Given the description of an element on the screen output the (x, y) to click on. 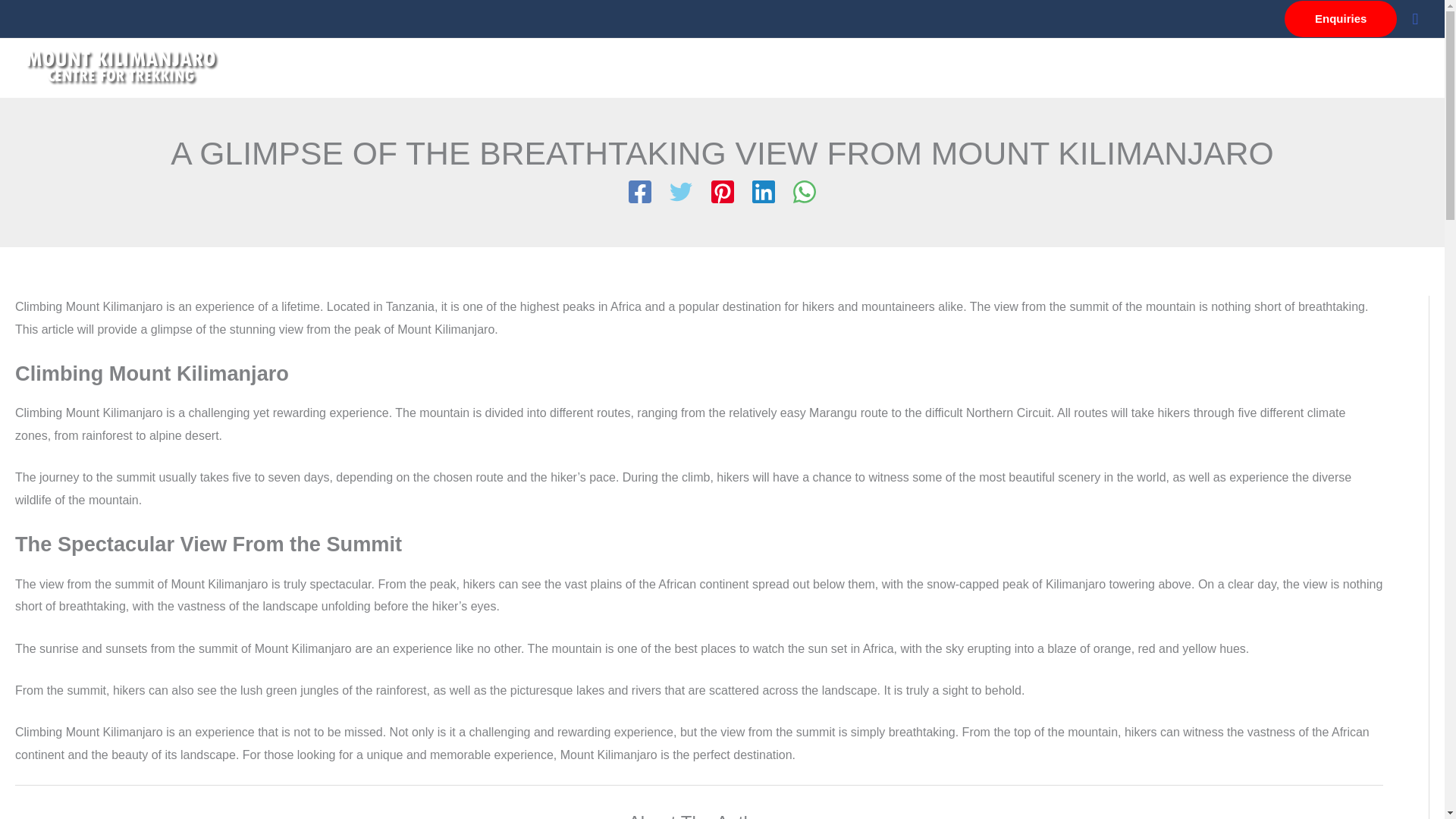
Enquiries (1340, 18)
Information (984, 68)
About (903, 68)
Home (841, 68)
